Given the description of an element on the screen output the (x, y) to click on. 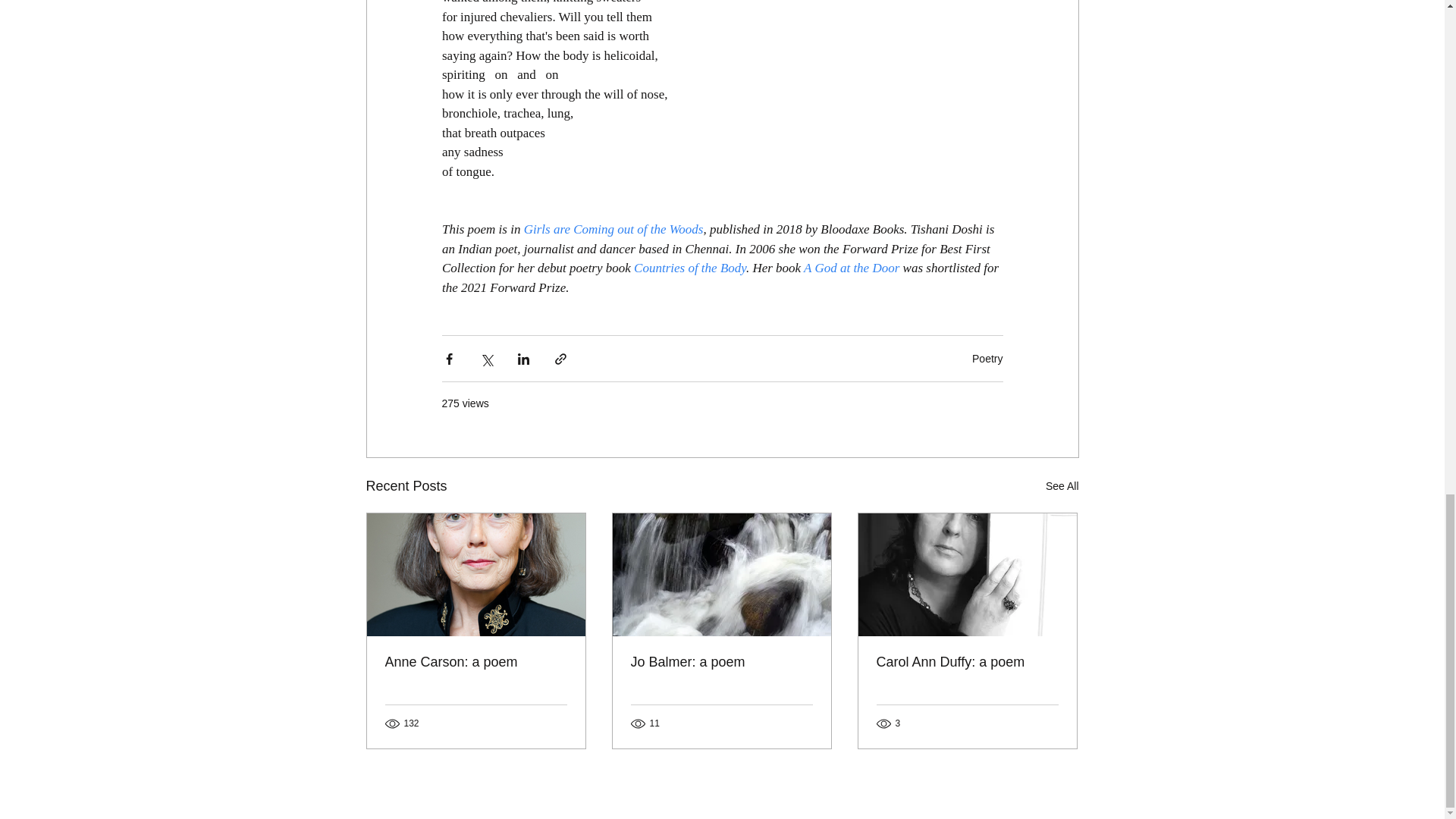
A God at the Door (851, 268)
Anne Carson: a poem (476, 662)
Carol Ann Duffy: a poem (967, 662)
See All (1061, 486)
Girls are Coming out of the Woods (612, 228)
Countries of the Body (689, 268)
Jo Balmer: a poem (721, 662)
Poetry (987, 358)
